Given the description of an element on the screen output the (x, y) to click on. 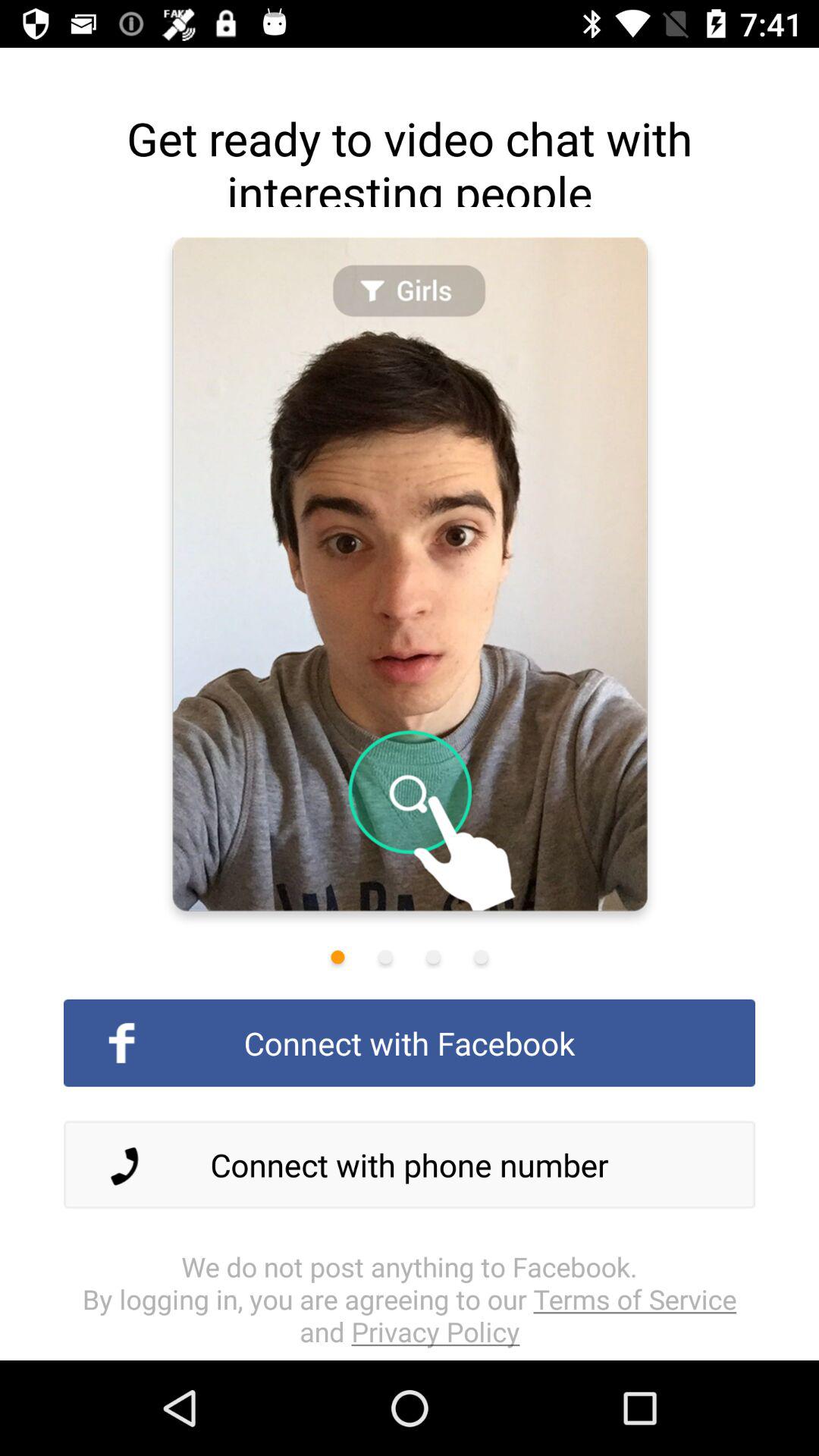
third icon from the left under picture (433, 957)
